Given the description of an element on the screen output the (x, y) to click on. 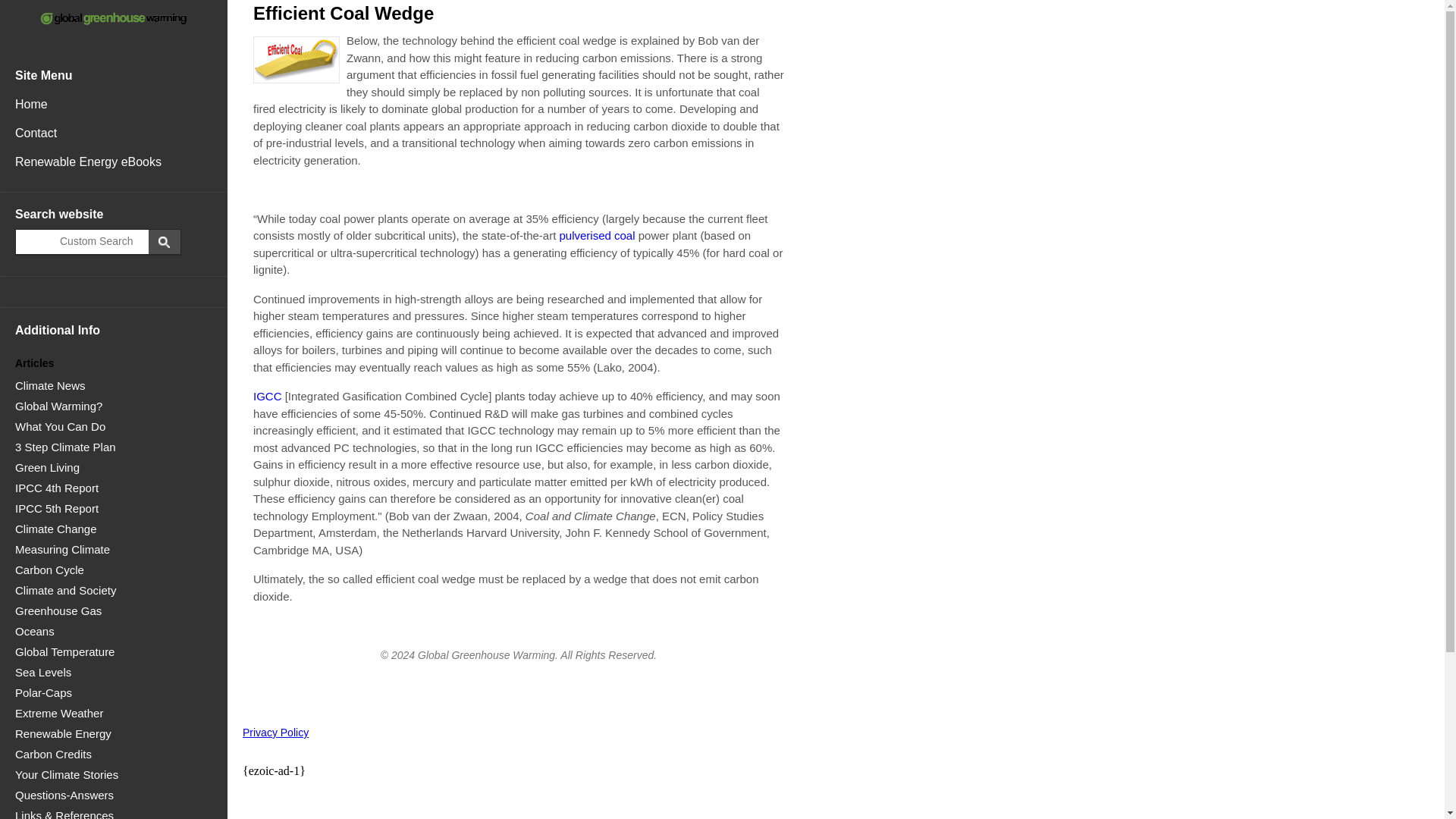
IPCC 4th Report (56, 487)
Extreme Weather (58, 712)
Climate News (49, 385)
Carbon Credits (52, 753)
Renewable Energy eBooks (113, 162)
Contact (113, 133)
Your Climate Stories (65, 774)
Sea Levels (42, 671)
Home (113, 104)
Privacy Policy (275, 732)
WedgeEfficientCoal (296, 59)
Renewable Energy (63, 733)
What You Can Do (59, 426)
Global Warming? (57, 405)
search (85, 241)
